Given the description of an element on the screen output the (x, y) to click on. 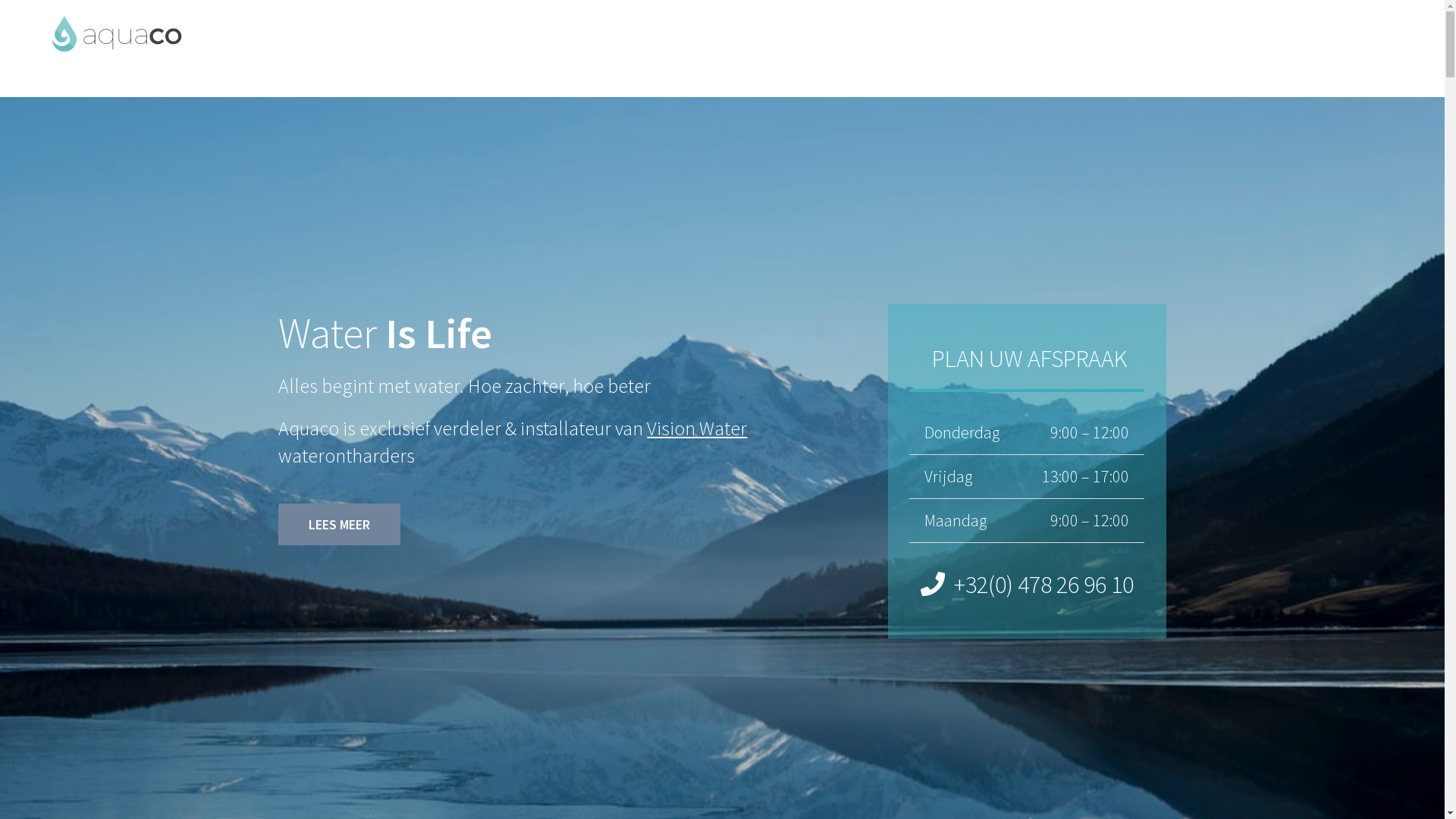
LEES MEER Element type: text (339, 524)
